Given the description of an element on the screen output the (x, y) to click on. 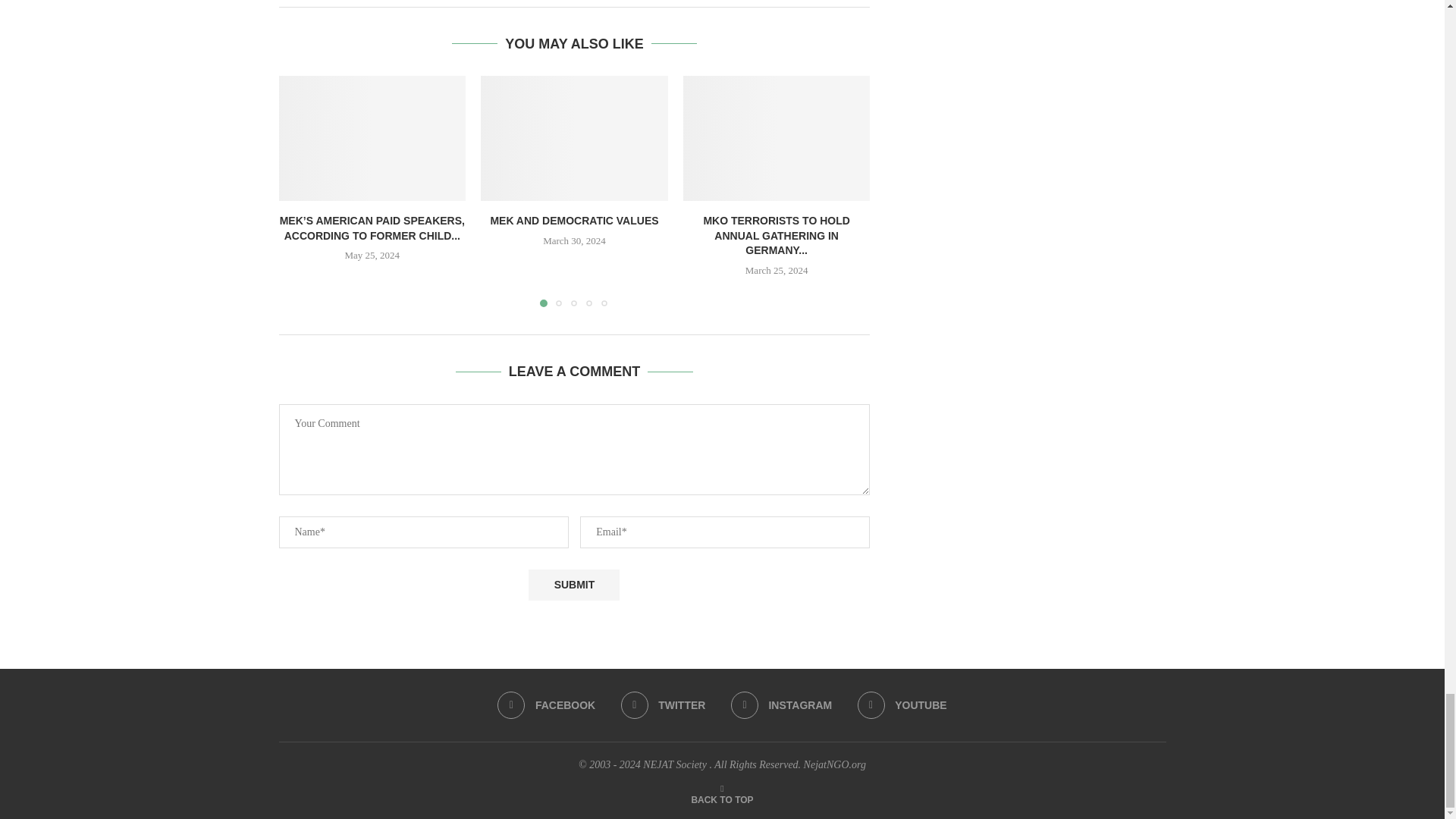
Submit (574, 584)
MEK and Democratic Values (574, 137)
